Given the description of an element on the screen output the (x, y) to click on. 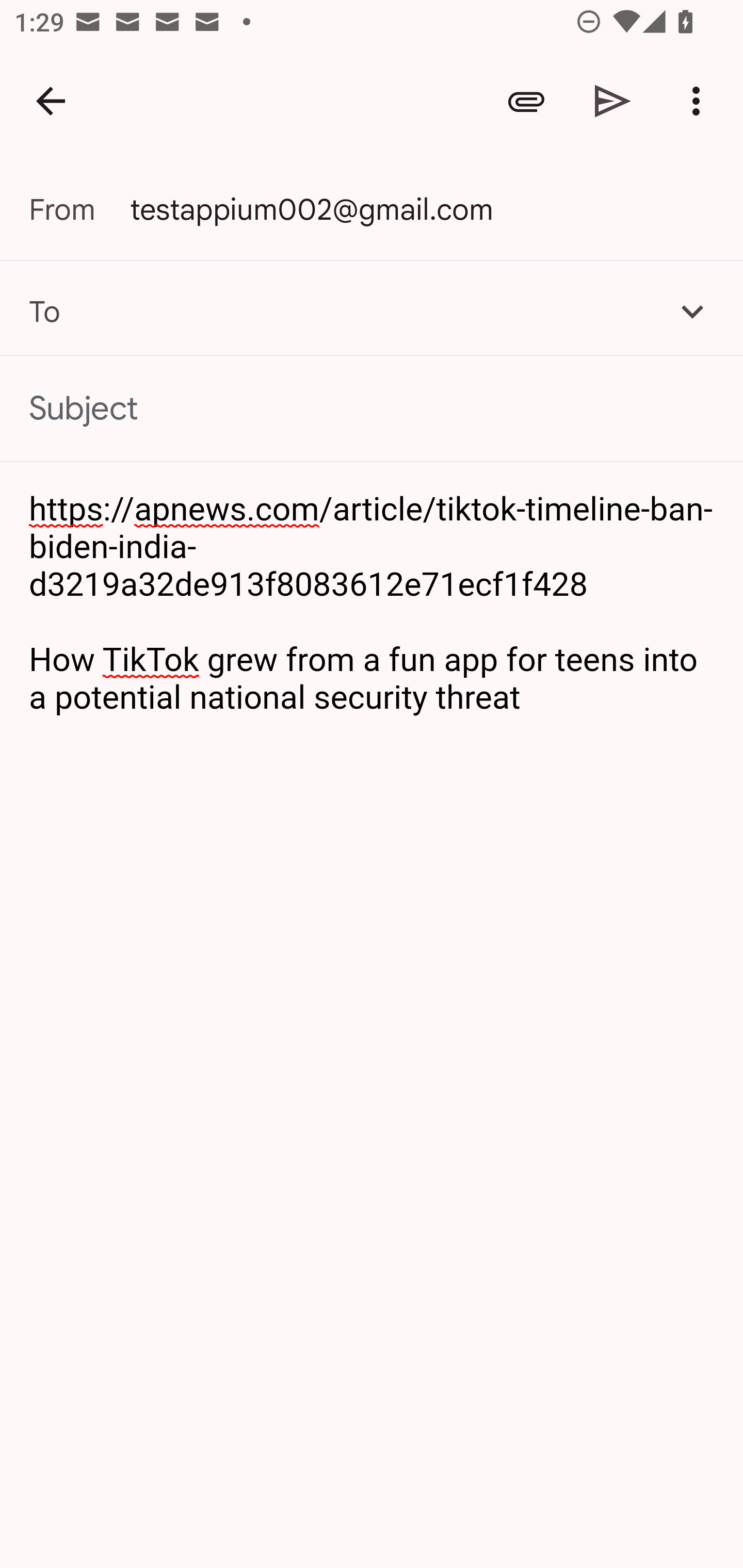
Navigate up (50, 101)
Attach file (525, 101)
Send (612, 101)
More options (699, 101)
From (79, 209)
Add Cc/Bcc (692, 311)
Subject (371, 407)
